Given the description of an element on the screen output the (x, y) to click on. 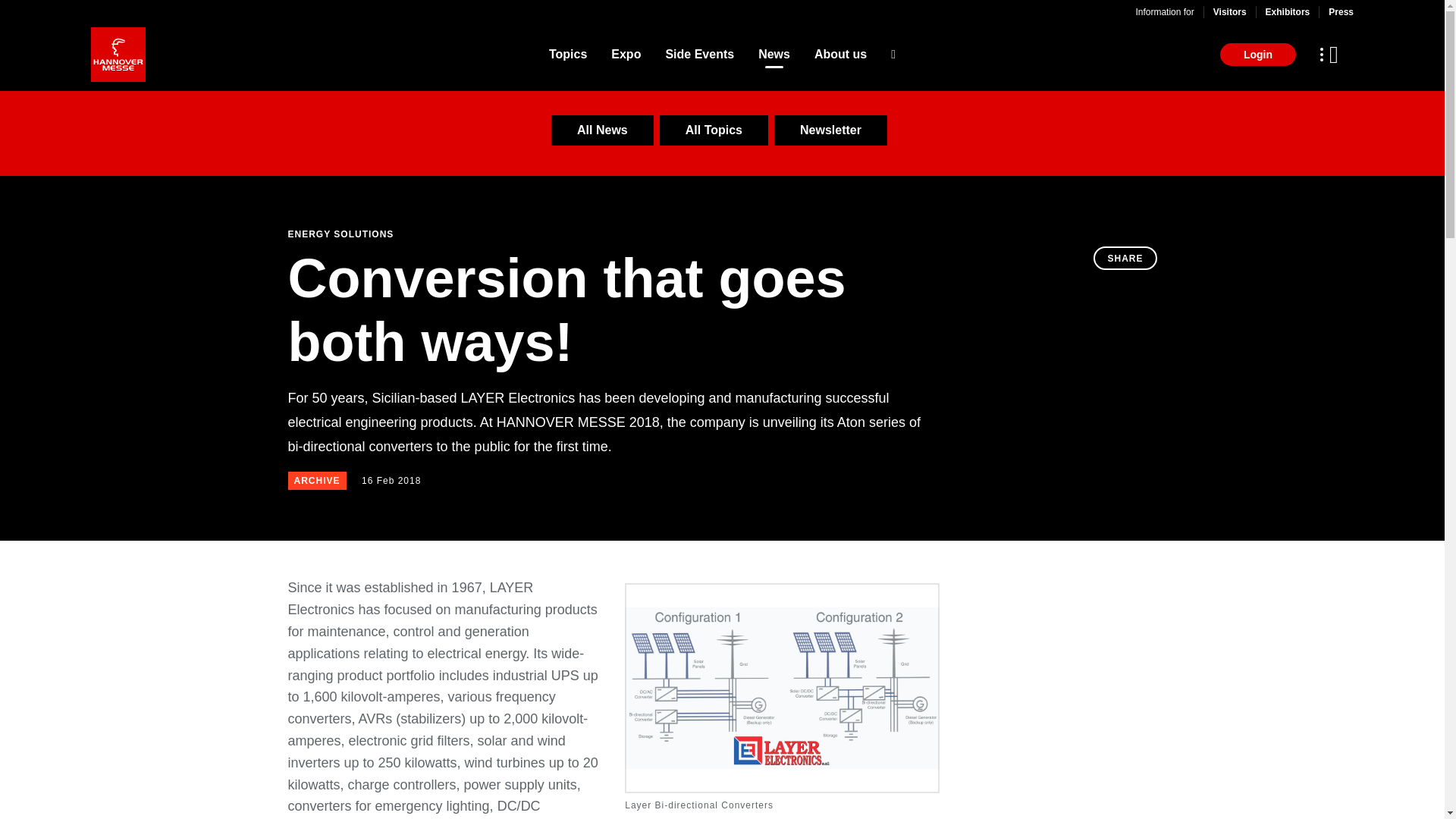
Press (1340, 11)
About us (839, 54)
Newsletter (830, 130)
Exhibitors (1287, 11)
All Topics (713, 130)
Visitors (1229, 11)
Topics (567, 54)
All News (602, 130)
Side Events (699, 54)
Login (1257, 54)
